Given the description of an element on the screen output the (x, y) to click on. 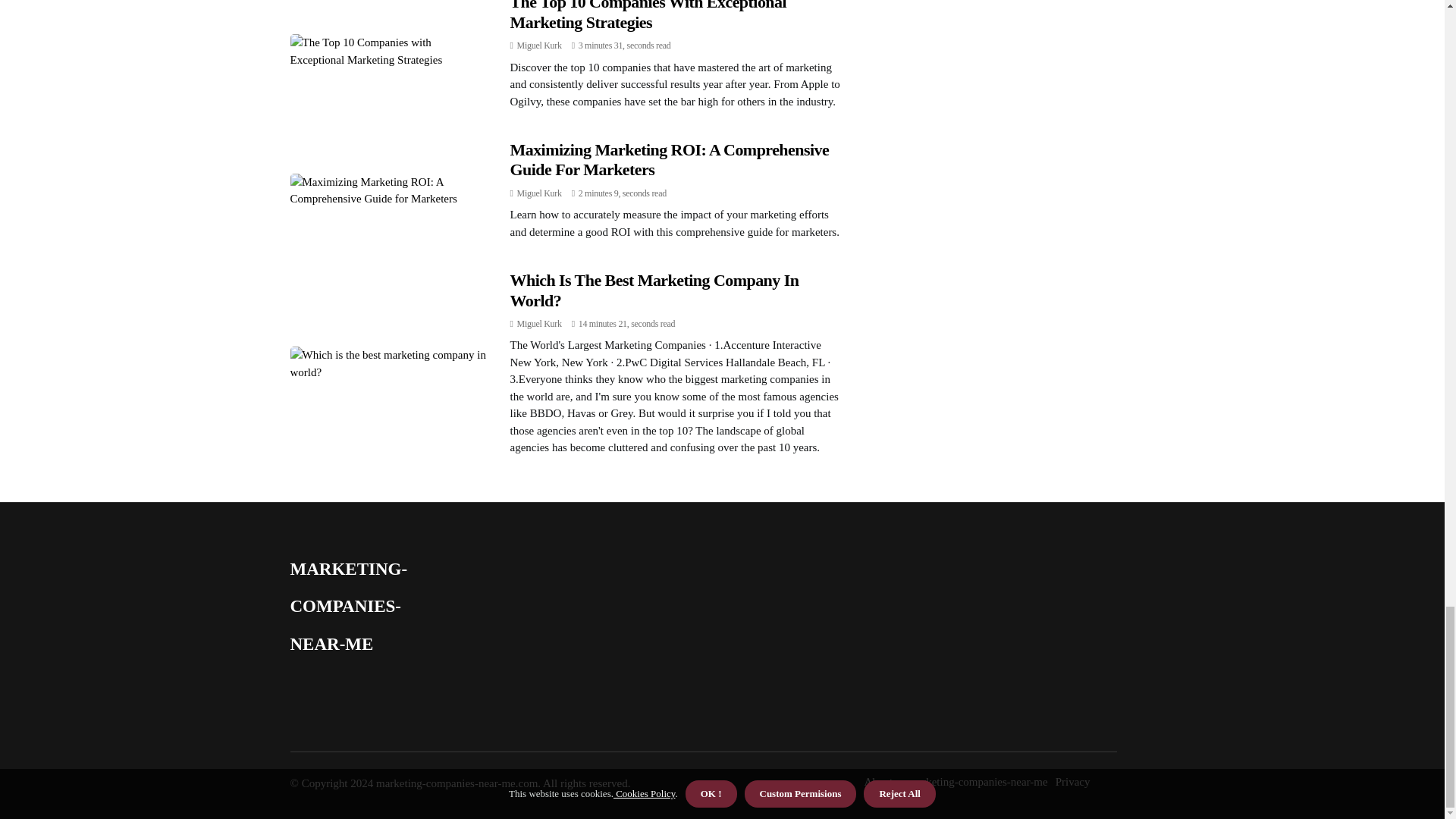
Miguel Kurk (539, 45)
Miguel Kurk (539, 193)
Miguel Kurk (539, 323)
Posts by Miguel Kurk (539, 45)
The Top 10 Companies With Exceptional Marketing Strategies (647, 15)
Posts by Miguel Kurk (539, 193)
Which Is The Best Marketing Company In World? (653, 290)
Posts by Miguel Kurk (539, 323)
